Given the description of an element on the screen output the (x, y) to click on. 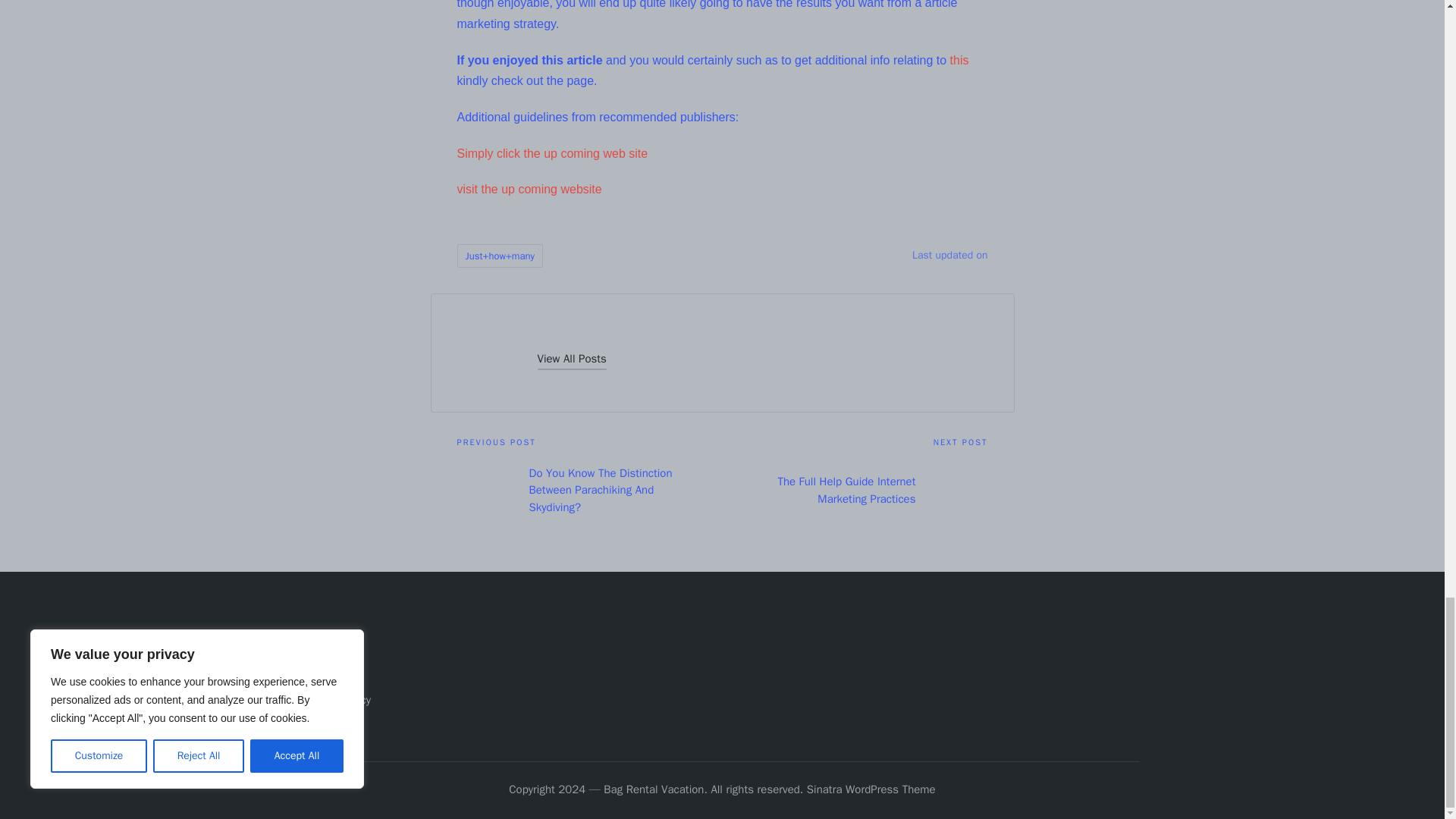
this (959, 60)
The Full Help Guide Internet Marketing Practices (854, 489)
Sinatra WordPress Theme (871, 790)
visit the up coming website (529, 188)
Simply click the up coming web site (552, 153)
Privacy Policy (337, 699)
About (318, 650)
View All Posts (571, 358)
Contact (323, 674)
